Given the description of an element on the screen output the (x, y) to click on. 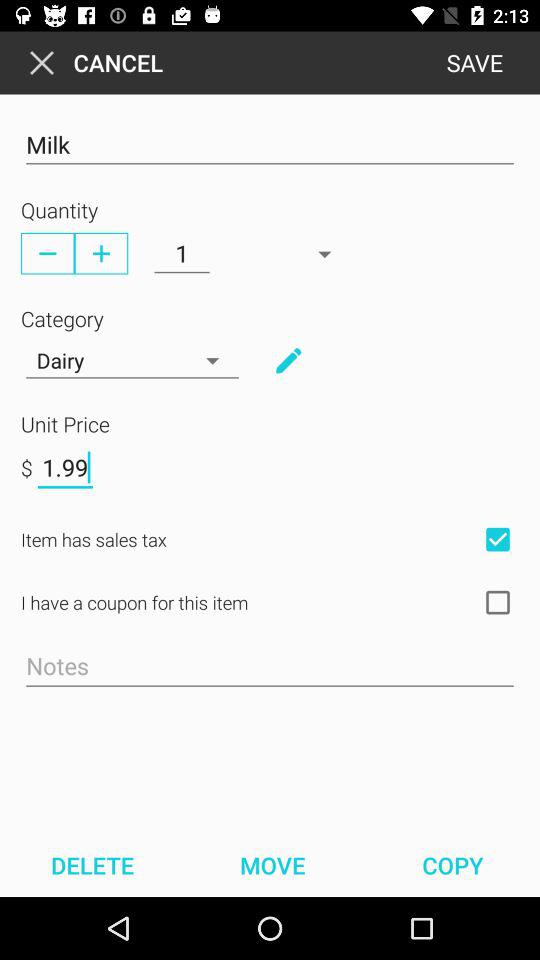
add quantity (101, 253)
